Given the description of an element on the screen output the (x, y) to click on. 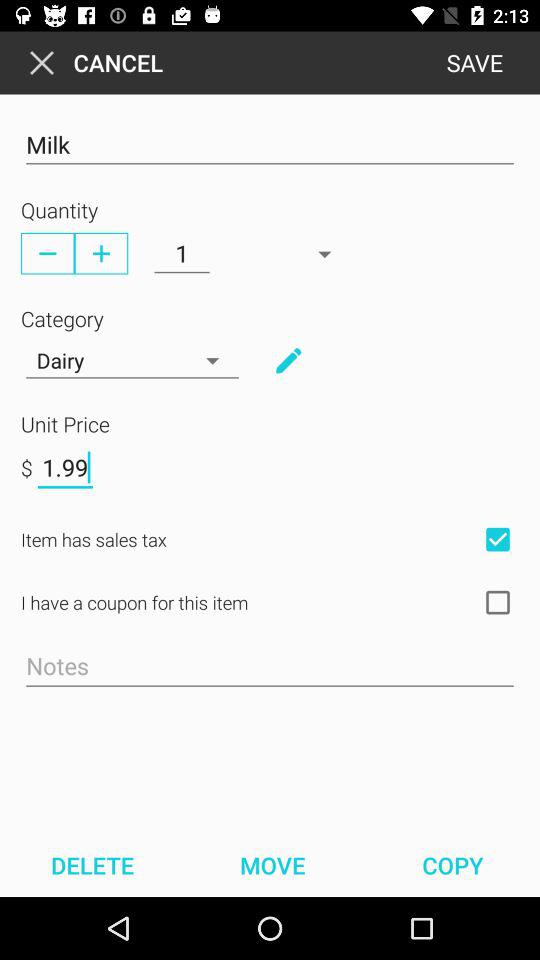
add quantity (101, 253)
